Given the description of an element on the screen output the (x, y) to click on. 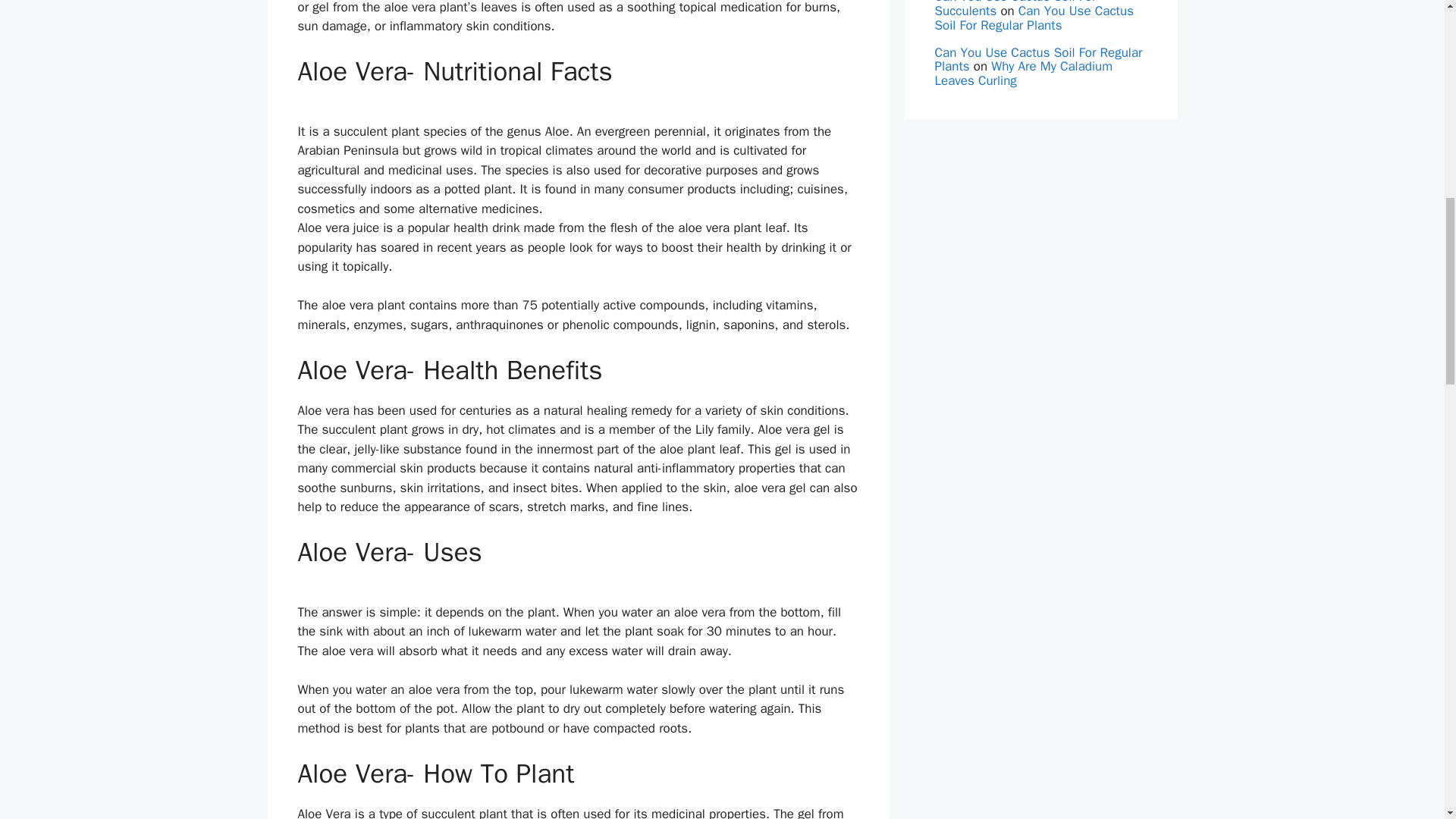
Can You Use Cactus Soil For Succulents (1015, 9)
Can You Use Cactus Soil For Regular Plants (1037, 60)
Can You Use Cactus Soil For Regular Plants (1033, 18)
Why Are My Caladium Leaves Curling (1023, 73)
